Given the description of an element on the screen output the (x, y) to click on. 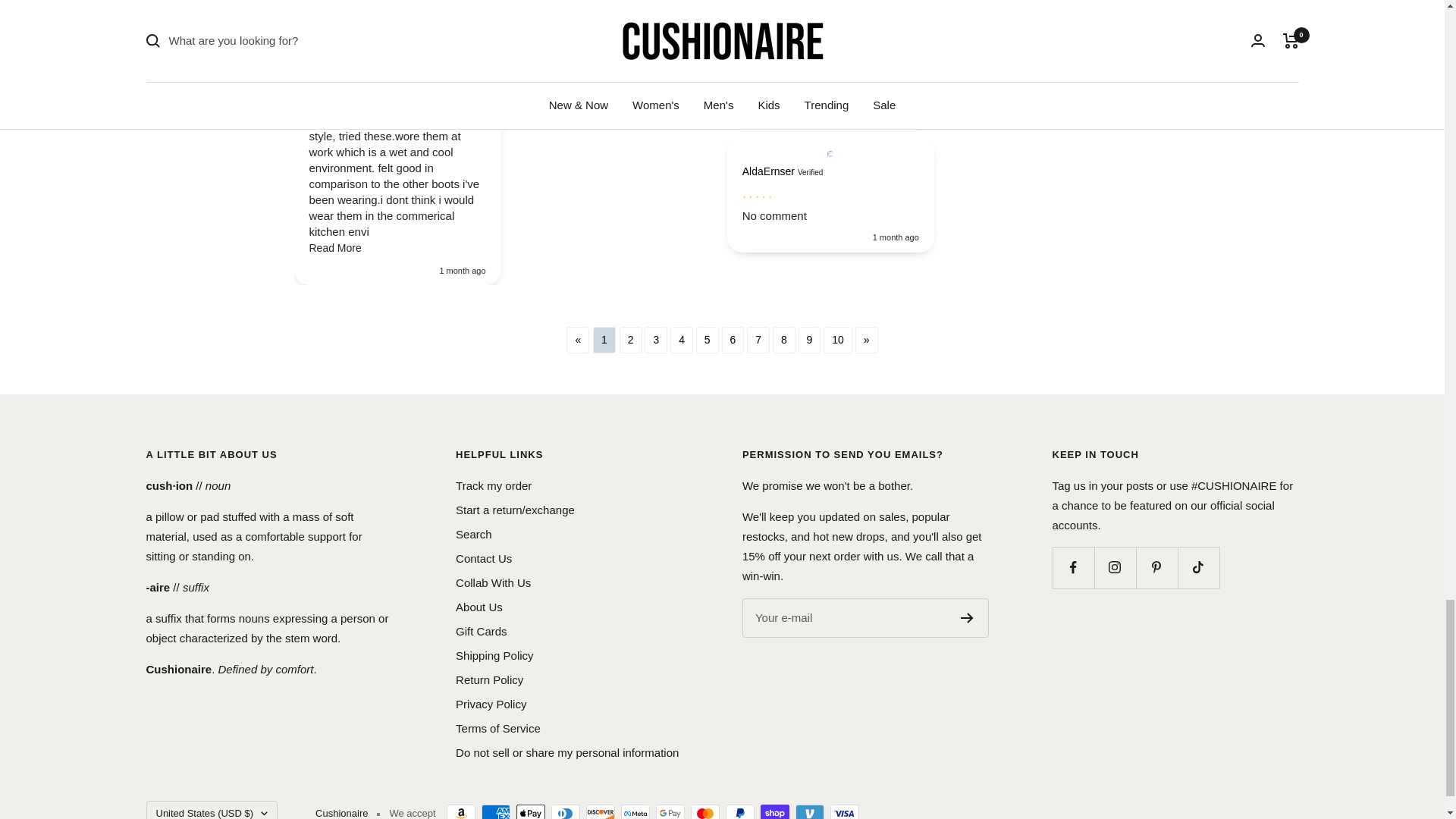
Register (967, 617)
